Given the description of an element on the screen output the (x, y) to click on. 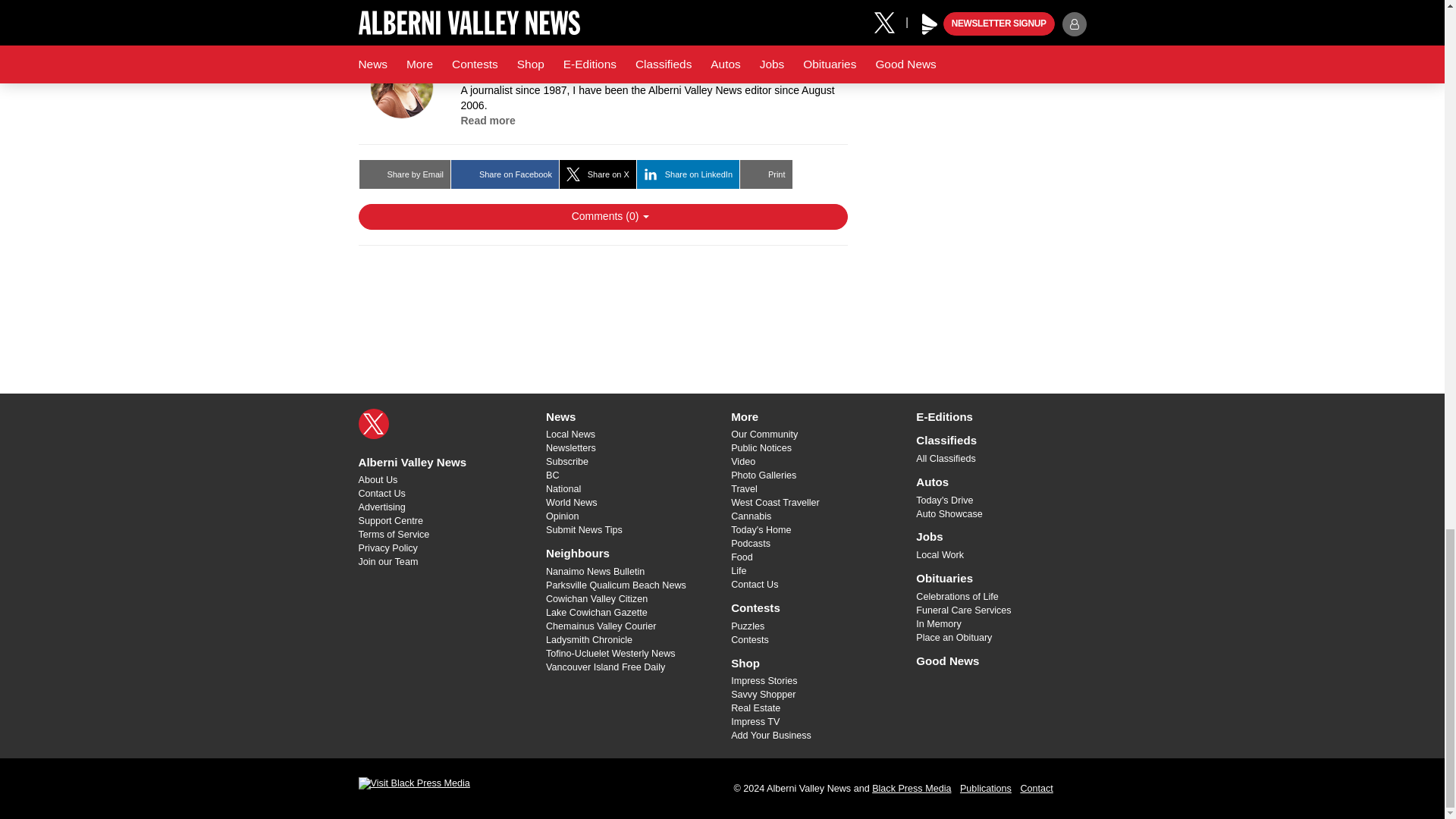
X (373, 423)
Show Comments (602, 216)
